Given the description of an element on the screen output the (x, y) to click on. 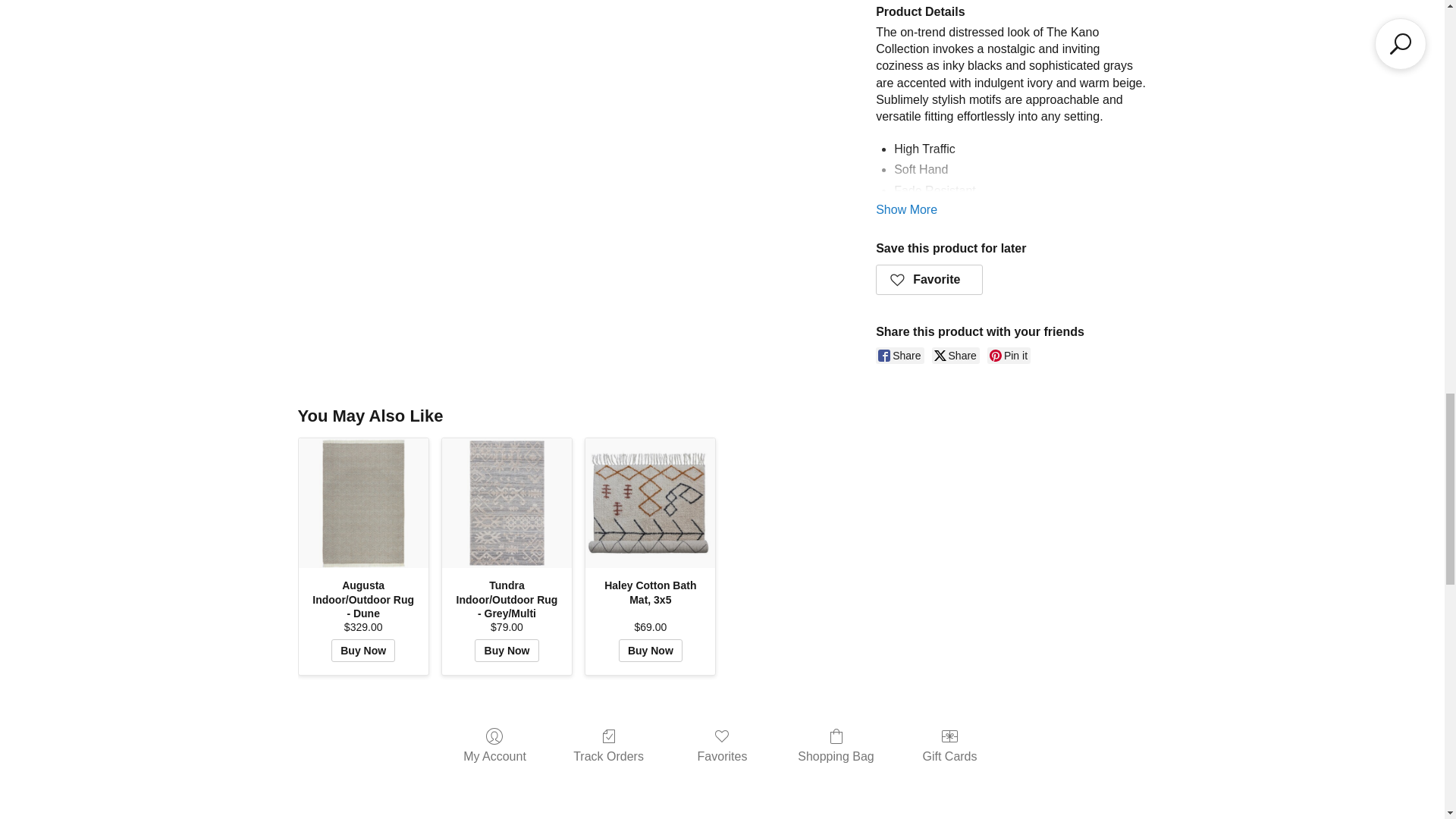
Haley Cotton Bath Mat, 3x5 (649, 502)
Haley Cotton Bath Mat, 3x5 (649, 503)
